Given the description of an element on the screen output the (x, y) to click on. 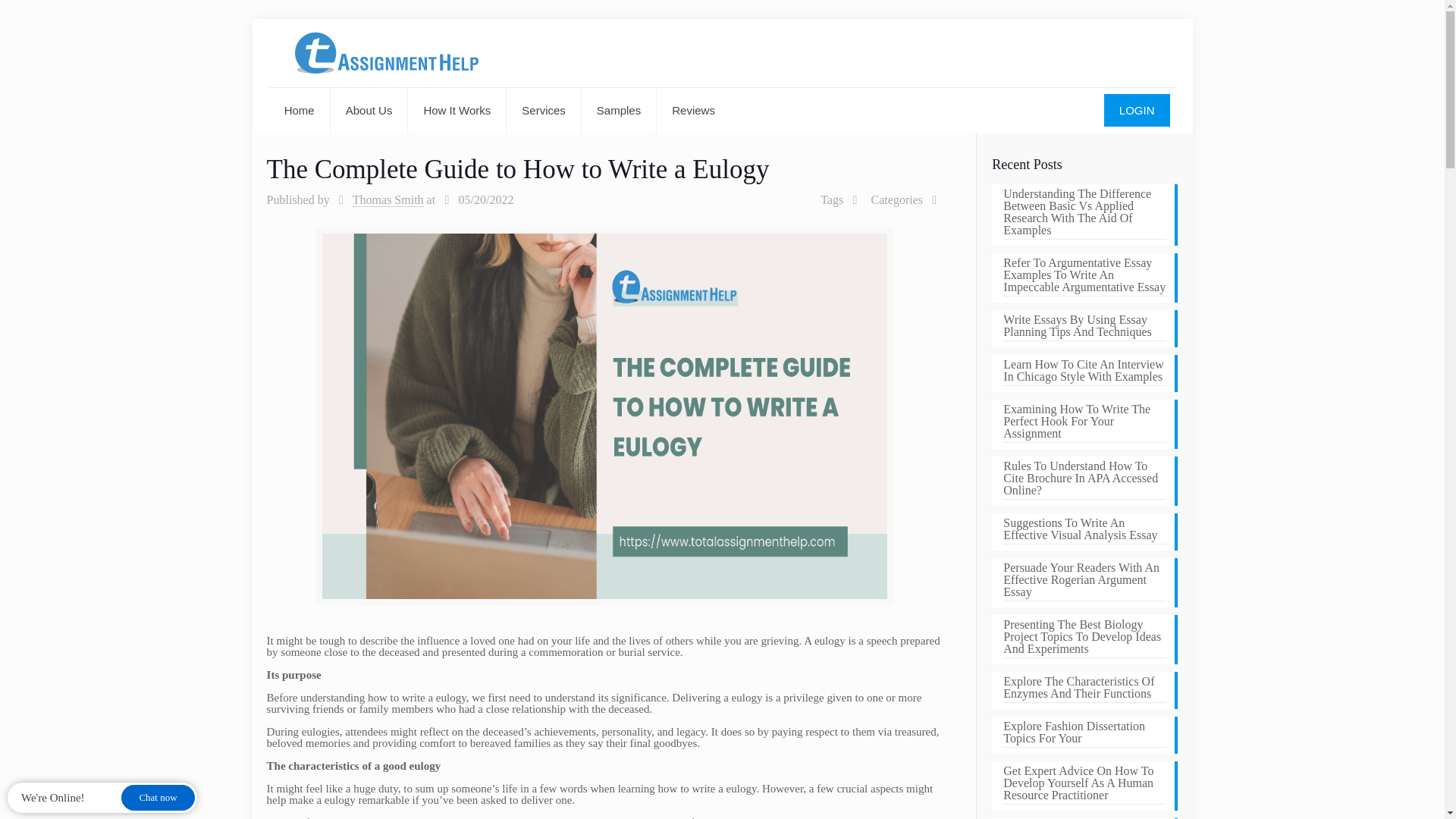
Home (299, 110)
Services (543, 110)
Samples (618, 110)
How It Works (456, 110)
About Us (369, 110)
Thomas Smith (387, 200)
Reviews (693, 110)
LOGIN (1136, 110)
